Given the description of an element on the screen output the (x, y) to click on. 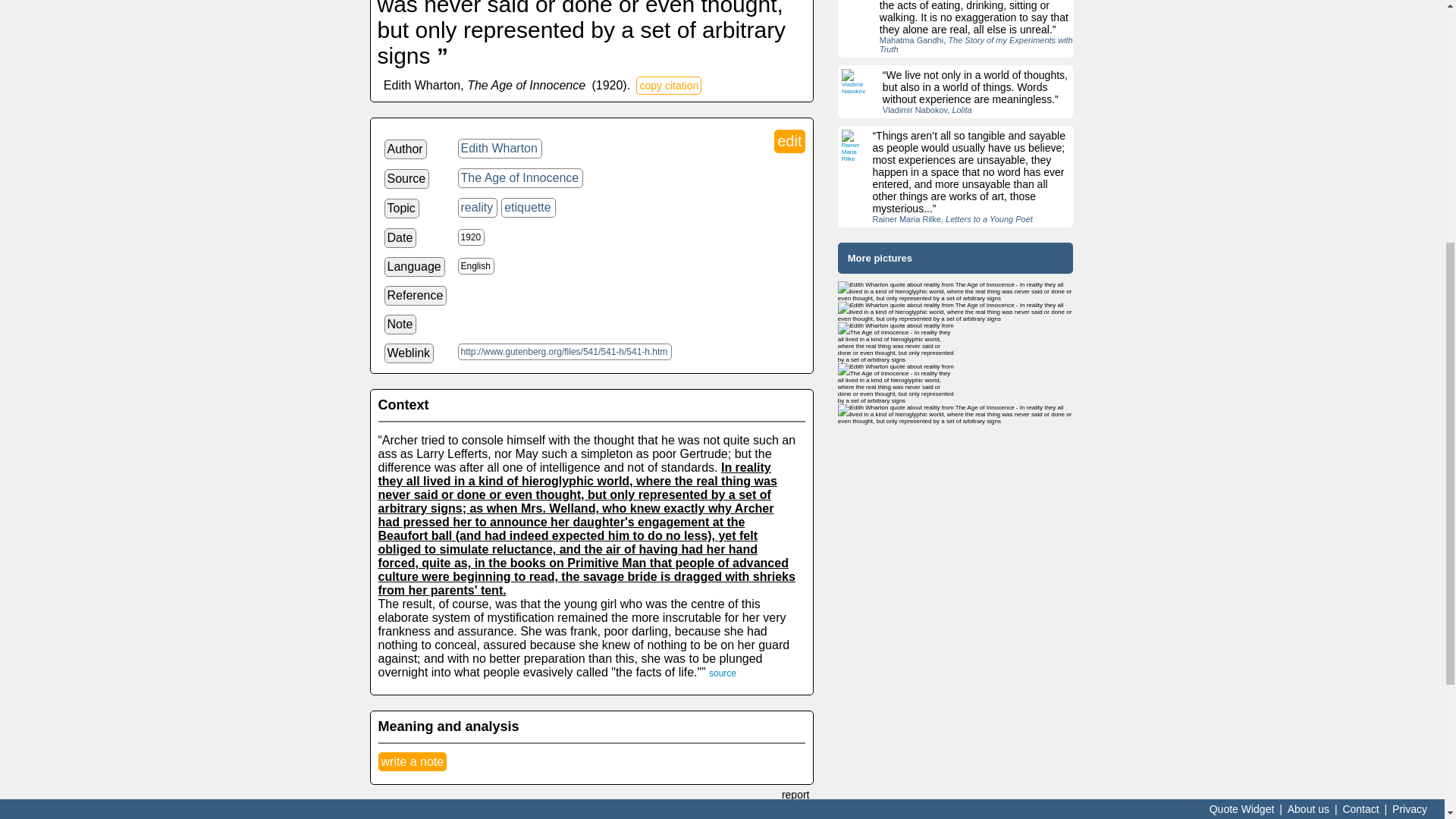
Edith Wharton quote about reality from The Age of Innocence (955, 312)
Edith Wharton quote about reality from The Age of Innocence (955, 414)
Edith Wharton quote about reality from The Age of Innocence (955, 291)
Contact (1359, 380)
write a note (411, 761)
Privacy (1409, 380)
Edith Wharton (499, 148)
source (722, 673)
Edith Wharton quote about reality from The Age of Innocence (896, 383)
edit (789, 141)
About us (1308, 380)
The Age of Innocence (520, 178)
copy citation (668, 85)
Quote Widget (1241, 380)
Edith Wharton quote about reality from The Age of Innocence (896, 342)
